Given the description of an element on the screen output the (x, y) to click on. 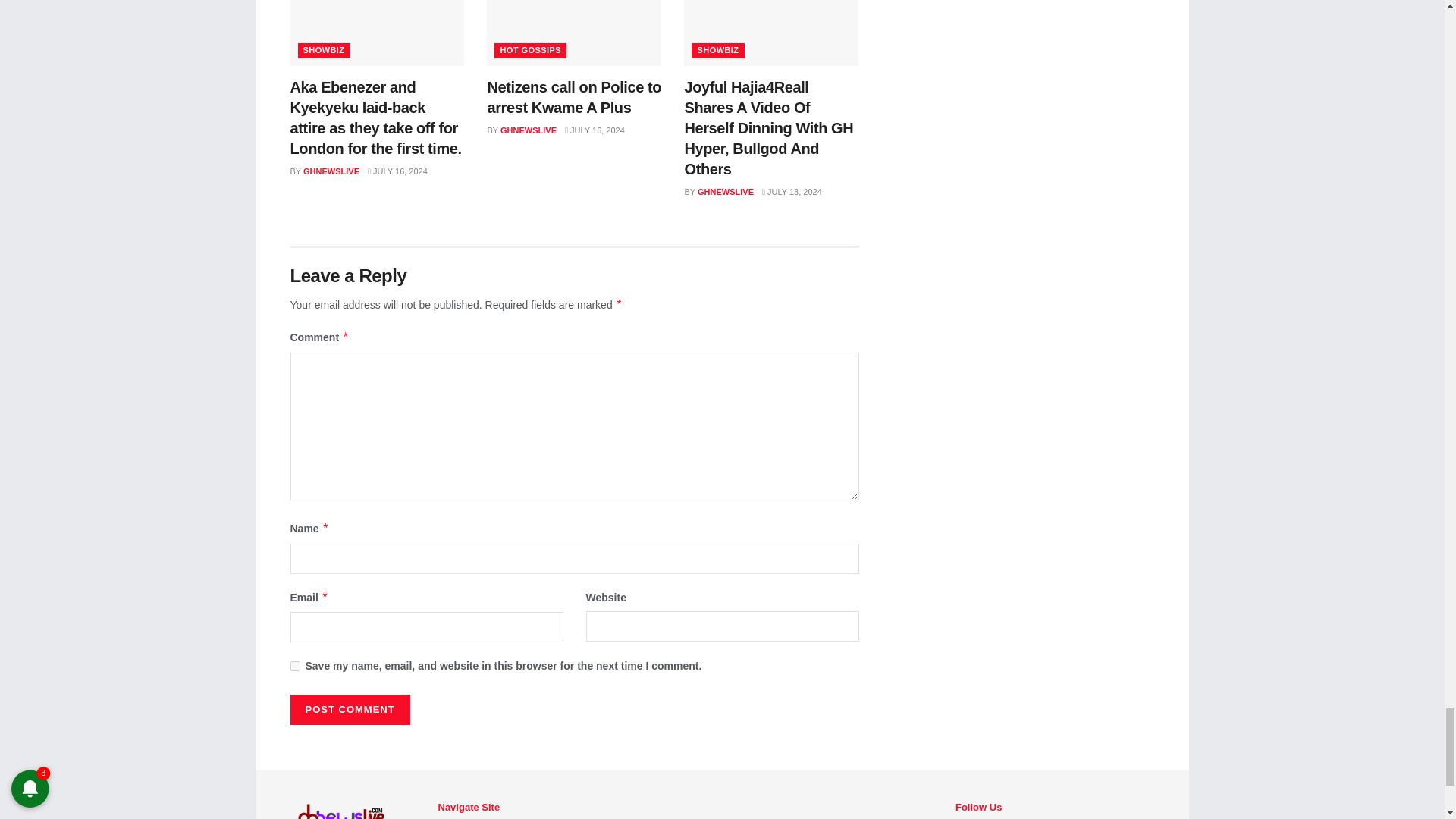
yes (294, 665)
Post Comment (349, 709)
